Given the description of an element on the screen output the (x, y) to click on. 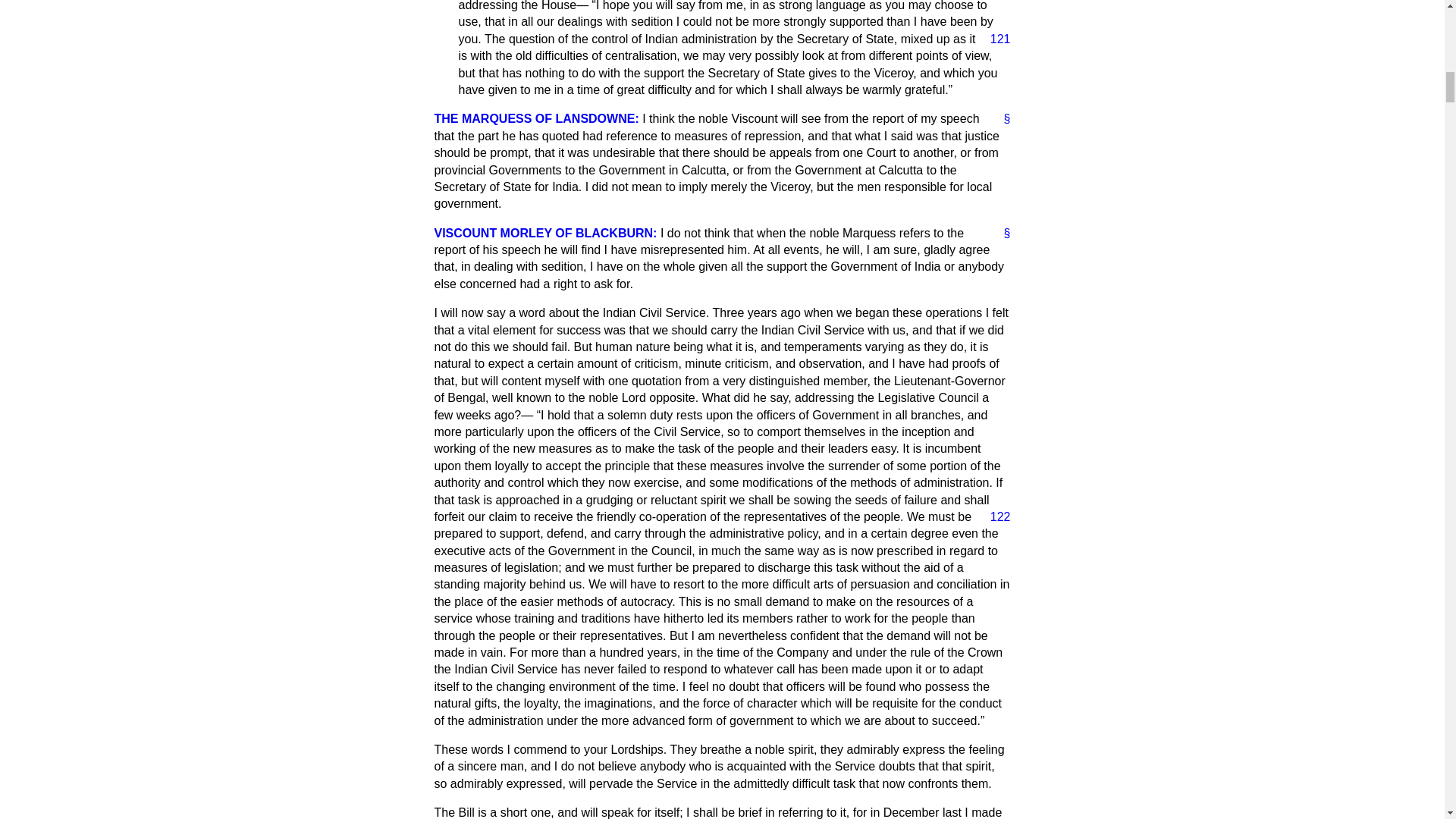
Link to this speech by Mr Henry Petty-FitzMaurice (1000, 118)
Mr Henry Petty-FitzMaurice (536, 118)
Link to this speech by Mr John Morley (1000, 233)
122 (994, 516)
VISCOUNT MORLEY OF BLACKBURN: (544, 232)
THE MARQUESS OF LANSDOWNE: (536, 118)
Mr John Morley (544, 232)
121 (994, 39)
